Given the description of an element on the screen output the (x, y) to click on. 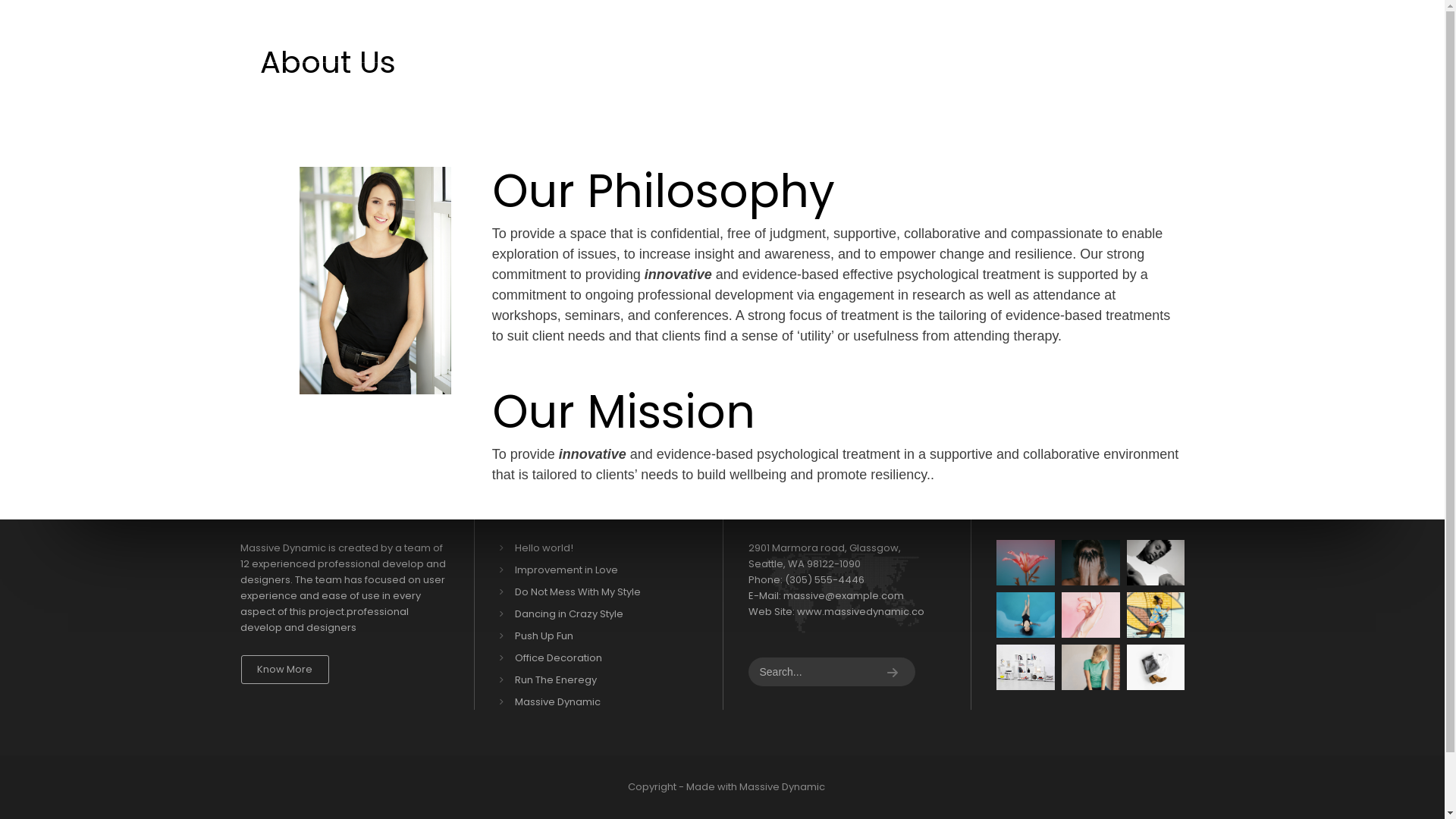
Office Decoration Element type: text (603, 657)
Dancing in Crazy Style Element type: text (603, 613)
Massive Dynamic Element type: text (603, 701)
Push Up Fun Element type: text (603, 635)
Run The Eneregy Element type: text (603, 679)
Improvement in Love Element type: text (603, 569)
Know More Element type: text (285, 669)
Do Not Mess With My Style Element type: text (603, 591)
Hello world! Element type: text (603, 547)
